Given the description of an element on the screen output the (x, y) to click on. 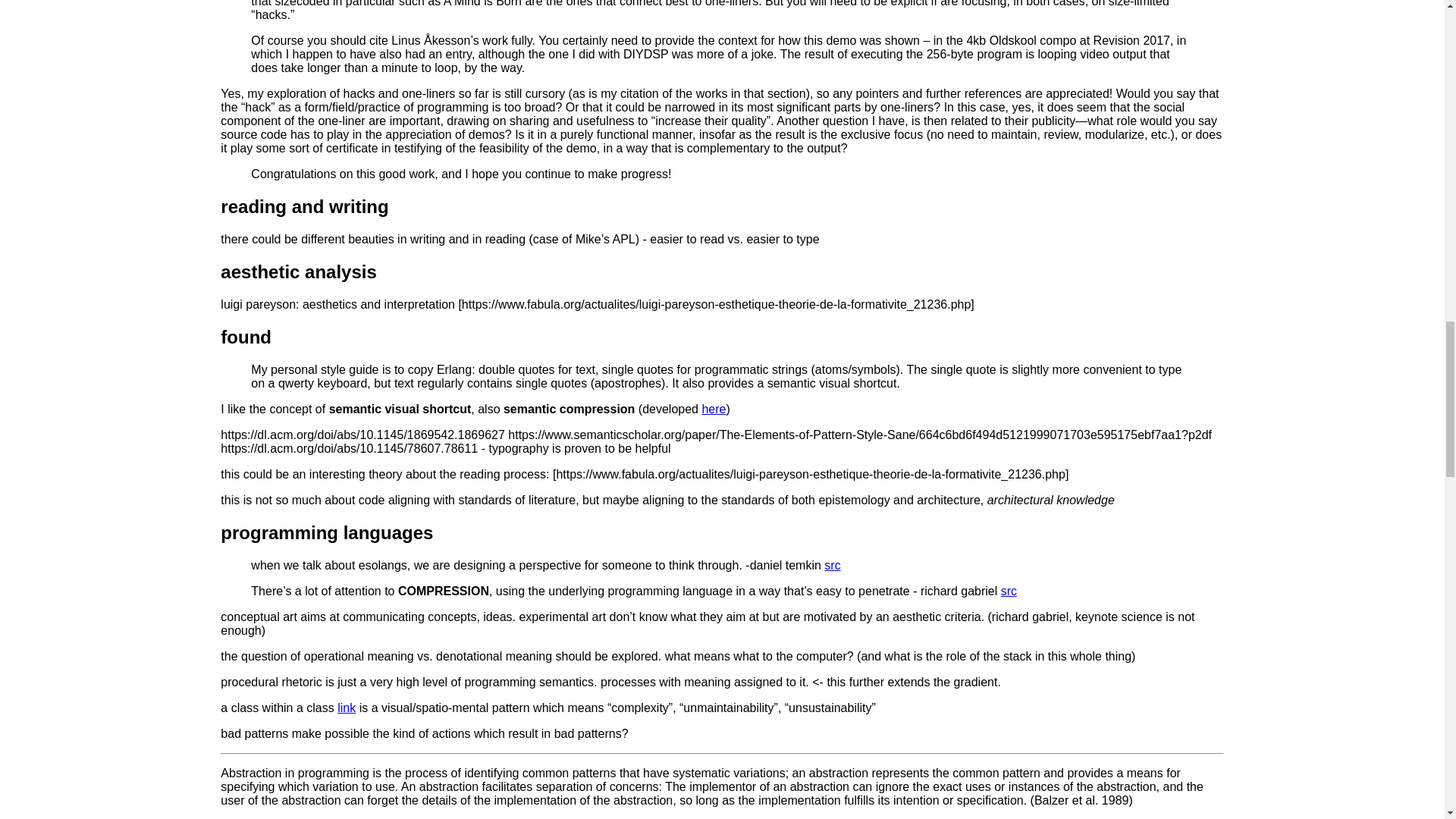
src (832, 564)
here (713, 408)
link (346, 707)
src (1008, 590)
